Given the description of an element on the screen output the (x, y) to click on. 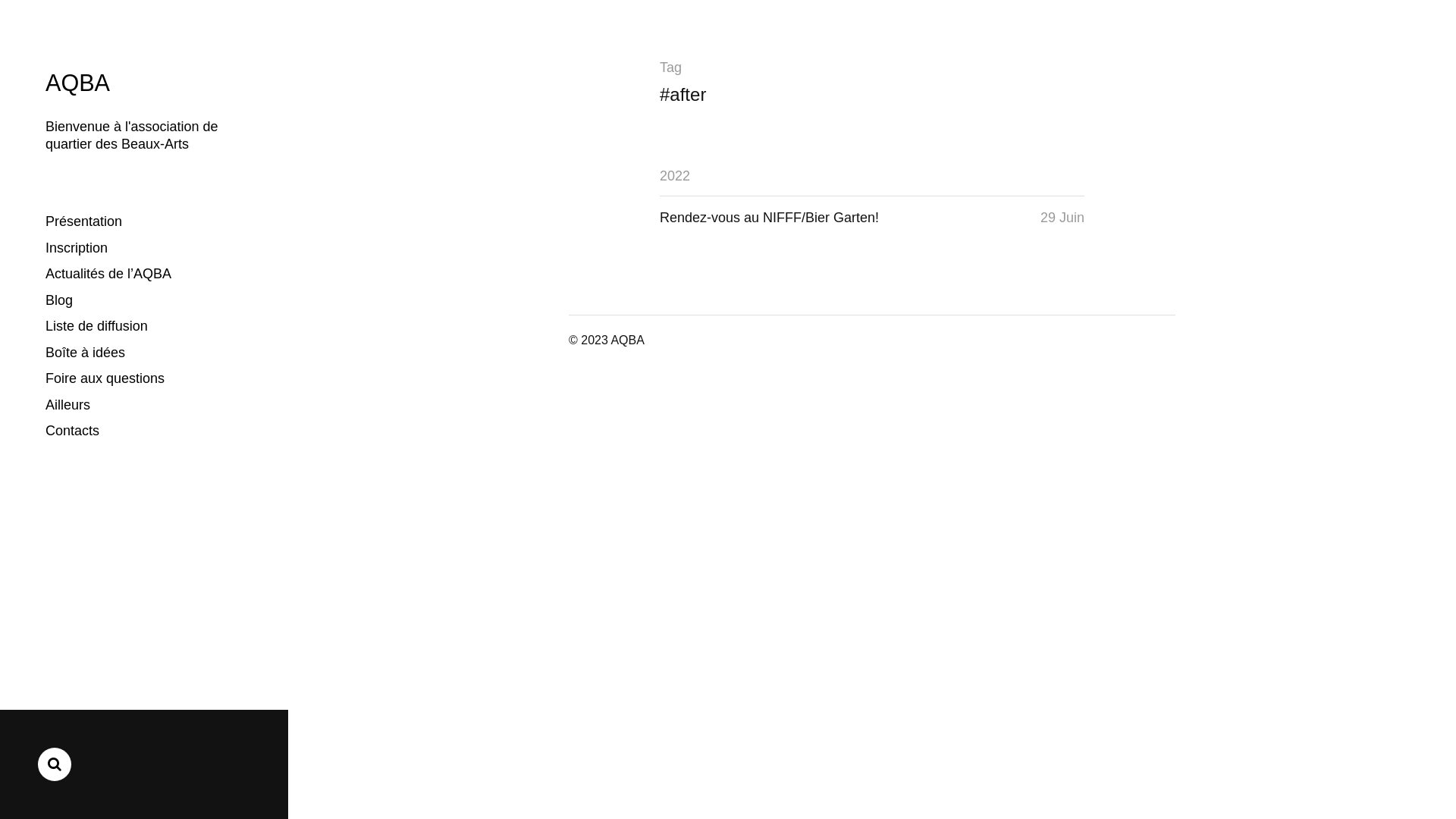
Liste de diffusion Element type: text (96, 326)
Inscription Element type: text (76, 248)
Blog Element type: text (58, 300)
Rendez-vous au NIFFF/Bier Garten!
29 Juin Element type: text (871, 217)
Foire aux questions Element type: text (104, 378)
AQBA Element type: text (77, 82)
AQBA Element type: text (626, 340)
Ailleurs Element type: text (67, 405)
Contacts Element type: text (72, 431)
2022 Element type: text (674, 175)
